Given the description of an element on the screen output the (x, y) to click on. 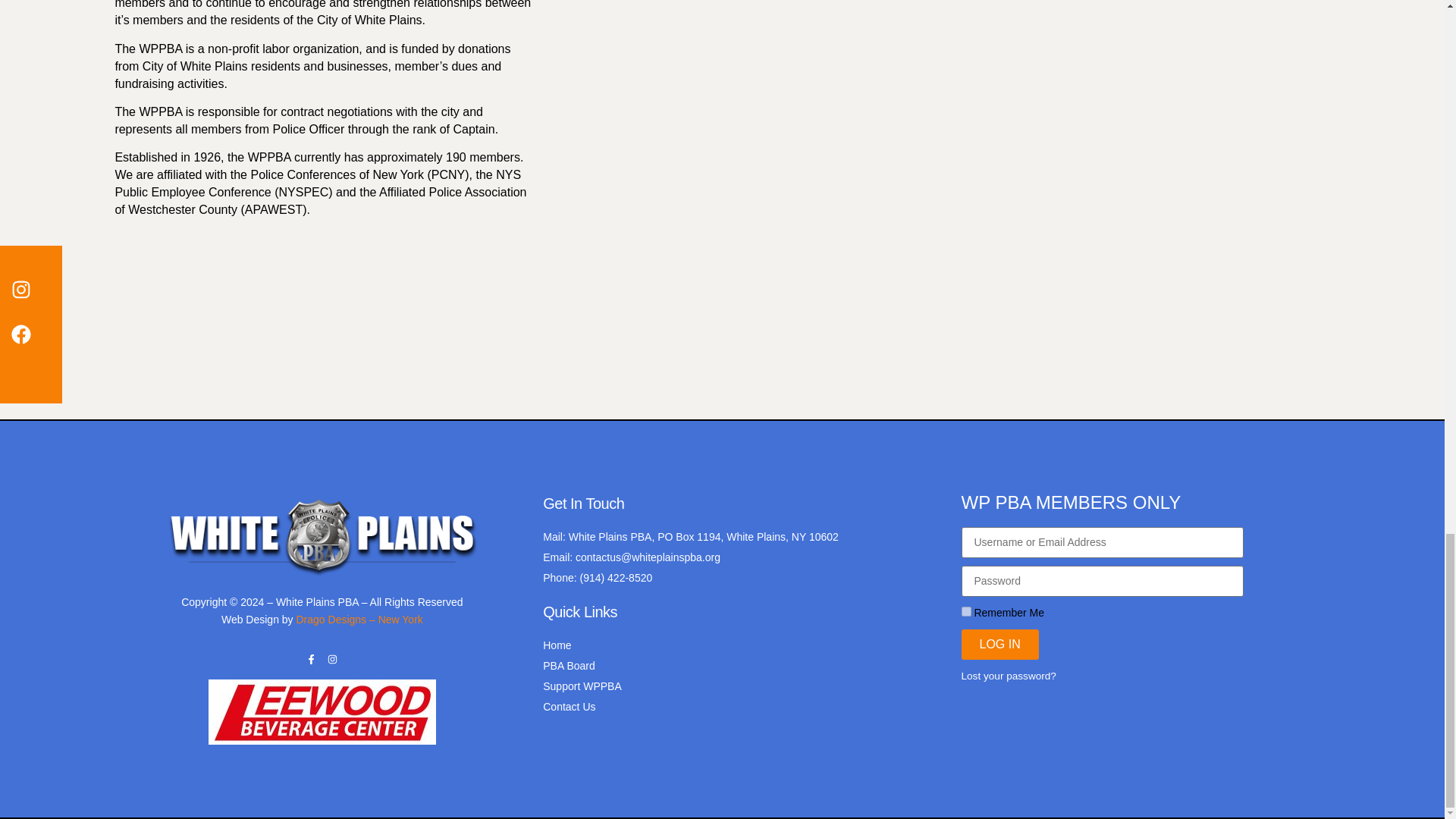
LOG IN (999, 644)
Home (740, 645)
forever (965, 611)
Contact Us (740, 706)
PBA Board (740, 665)
Support WPPBA (740, 686)
Lost your password? (1008, 675)
